Given the description of an element on the screen output the (x, y) to click on. 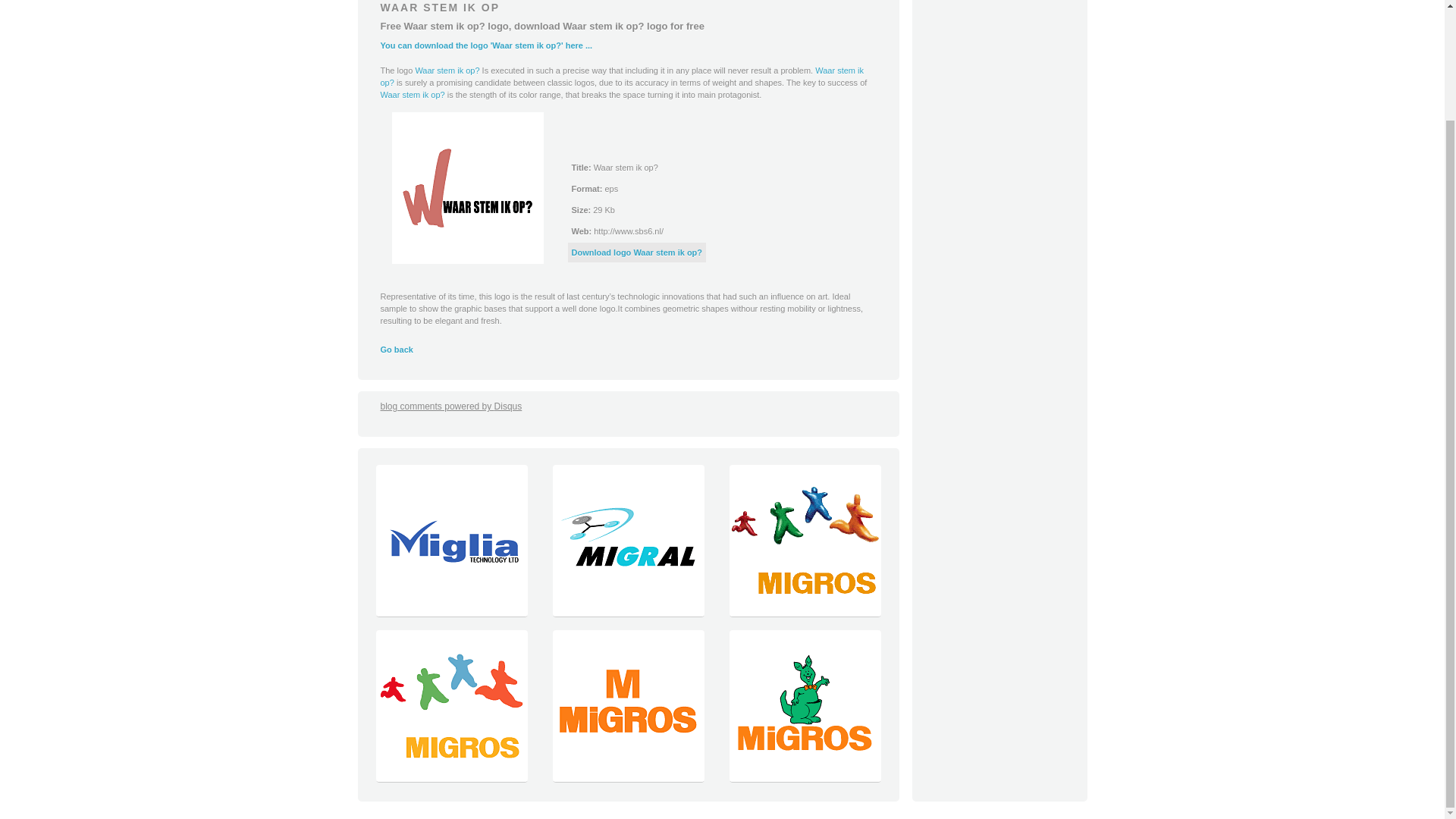
Download Logo Migros (627, 778)
Waar stem ik op? (446, 70)
You can download the logo 'Waar stem ik op?' here ... (486, 44)
Go back (396, 348)
Download Waar stem ik op? (467, 187)
Download Waar stem ik op? (637, 252)
Download Logo Migros (450, 778)
Waar stem ik op? (446, 70)
Waar stem ik op? (622, 76)
Download Logo Migros (804, 612)
Download Logo Migral (627, 612)
Download Logo Miglia Technology (450, 612)
Waar stem ik op? (622, 76)
Waar stem ik op? (412, 94)
